Given the description of an element on the screen output the (x, y) to click on. 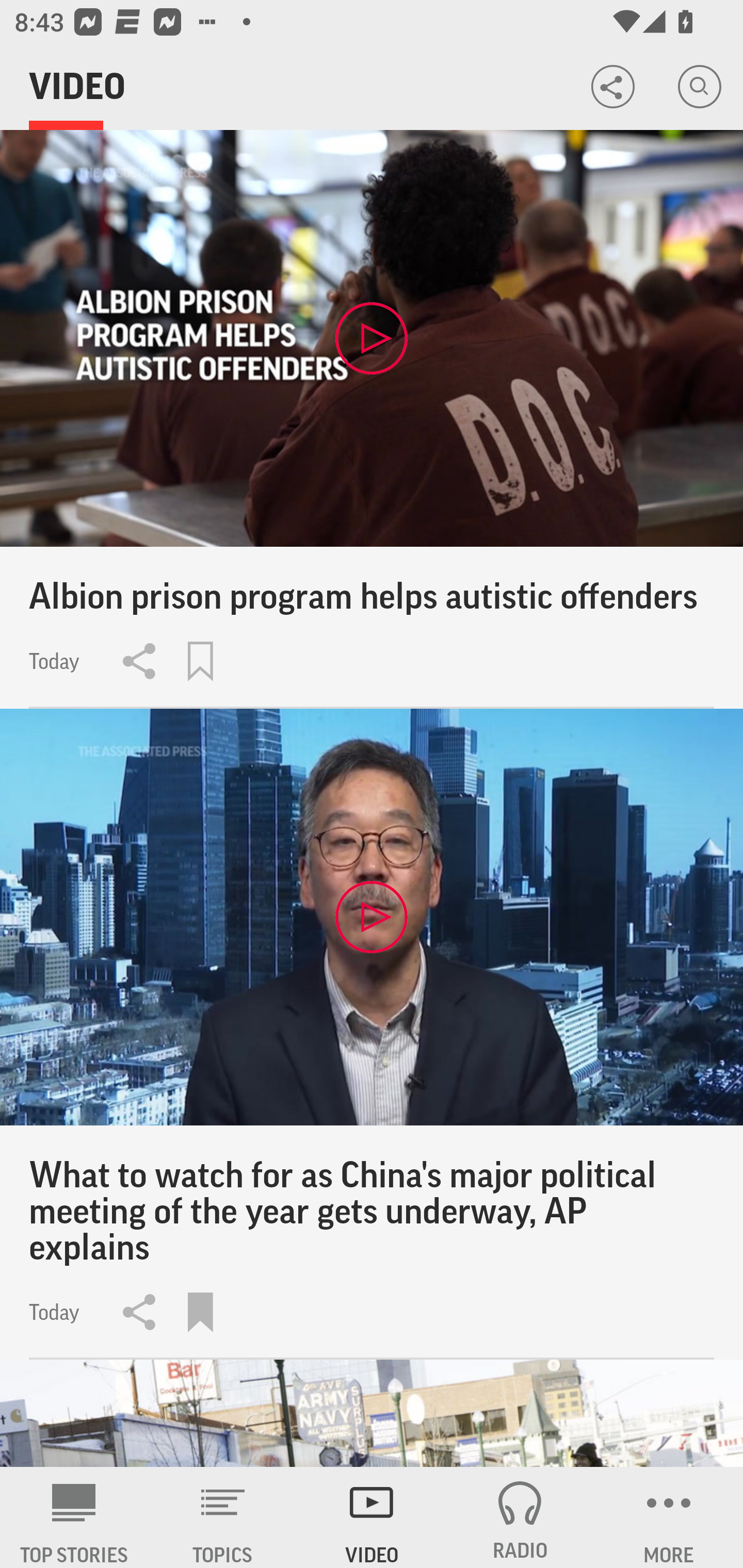
AP News TOP STORIES (74, 1517)
TOPICS (222, 1517)
VIDEO (371, 1517)
RADIO (519, 1517)
MORE (668, 1517)
